Given the description of an element on the screen output the (x, y) to click on. 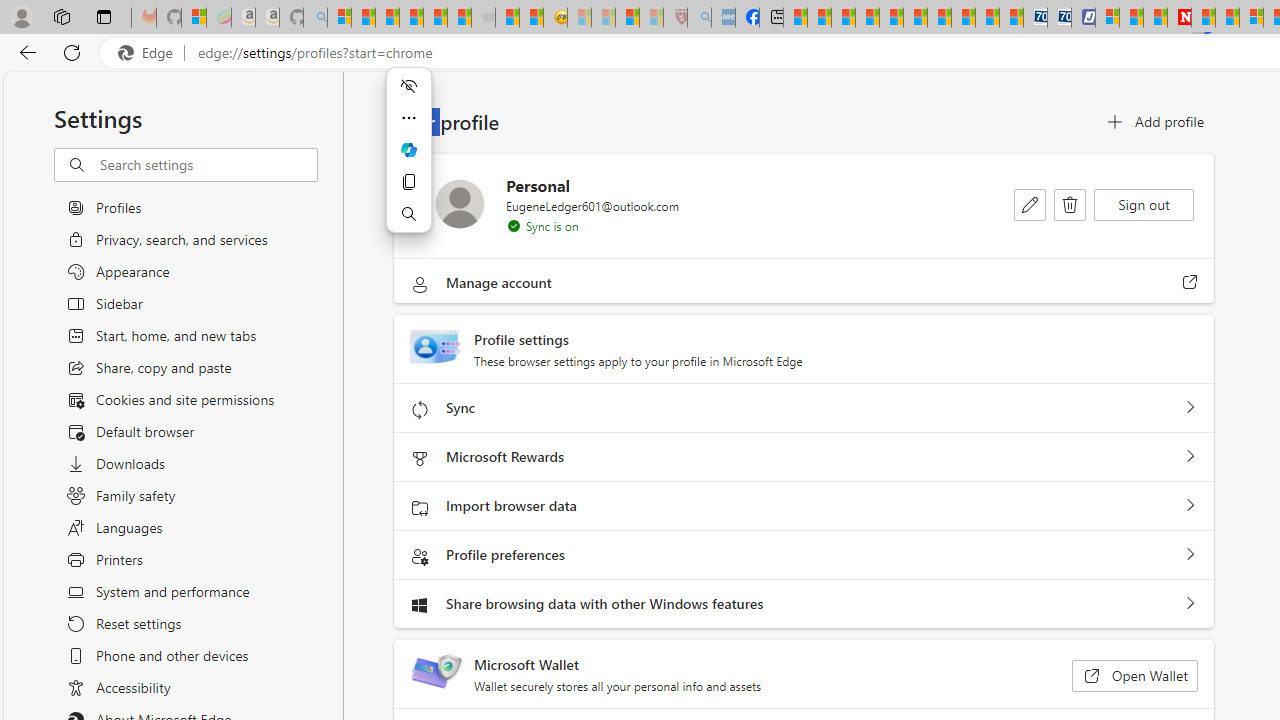
Open Wallet (1134, 675)
Combat Siege - Sleeping (483, 17)
New Report Confirms 2023 Was Record Hot | Watch (434, 17)
Edit (1030, 204)
Cheap Car Rentals - Save70.com (1035, 17)
Science - MSN (626, 17)
More actions (408, 117)
Edge (150, 53)
Microsoft account | Privacy (1106, 17)
Class: c01881 (1070, 205)
